Given the description of an element on the screen output the (x, y) to click on. 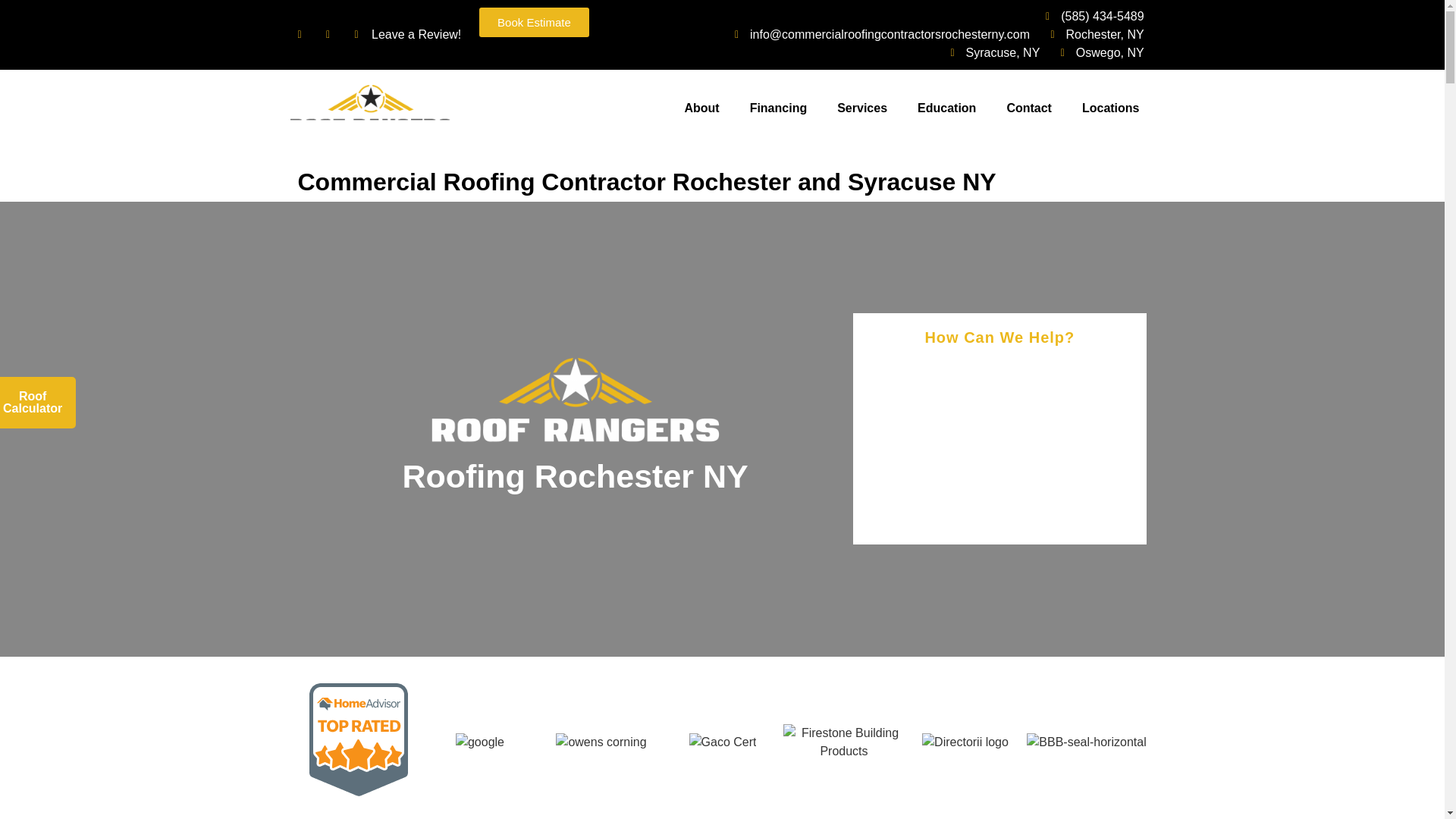
Locations (1110, 108)
Services (862, 108)
Leave a Review! (408, 34)
Financing (778, 108)
About (700, 108)
Book Estimate (534, 21)
Syracuse, NY (989, 53)
Rochester, NY (1092, 34)
Education (946, 108)
Contact (1029, 108)
Oswego, NY (1096, 53)
